Given the description of an element on the screen output the (x, y) to click on. 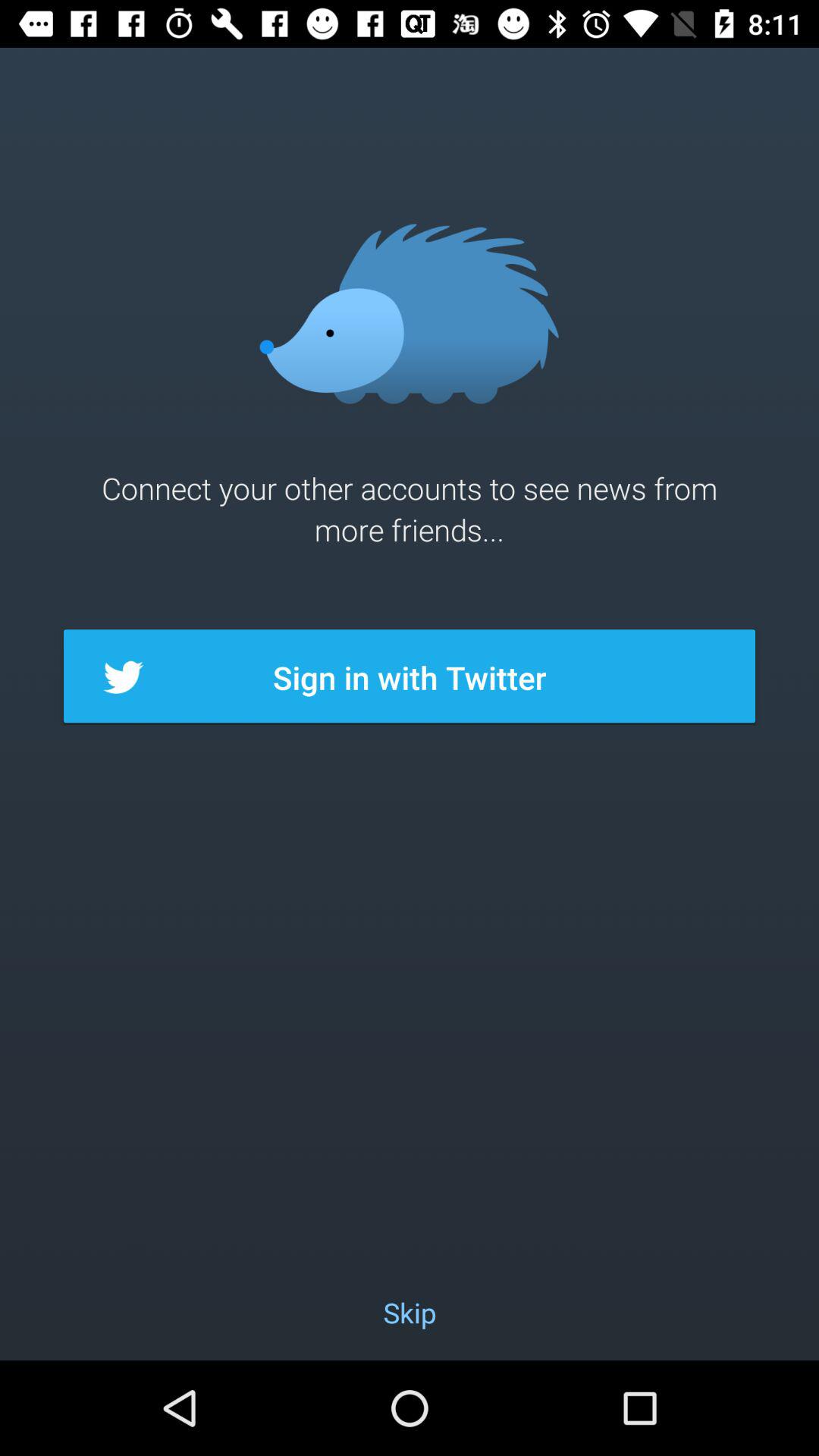
swipe to the skip icon (409, 1312)
